Given the description of an element on the screen output the (x, y) to click on. 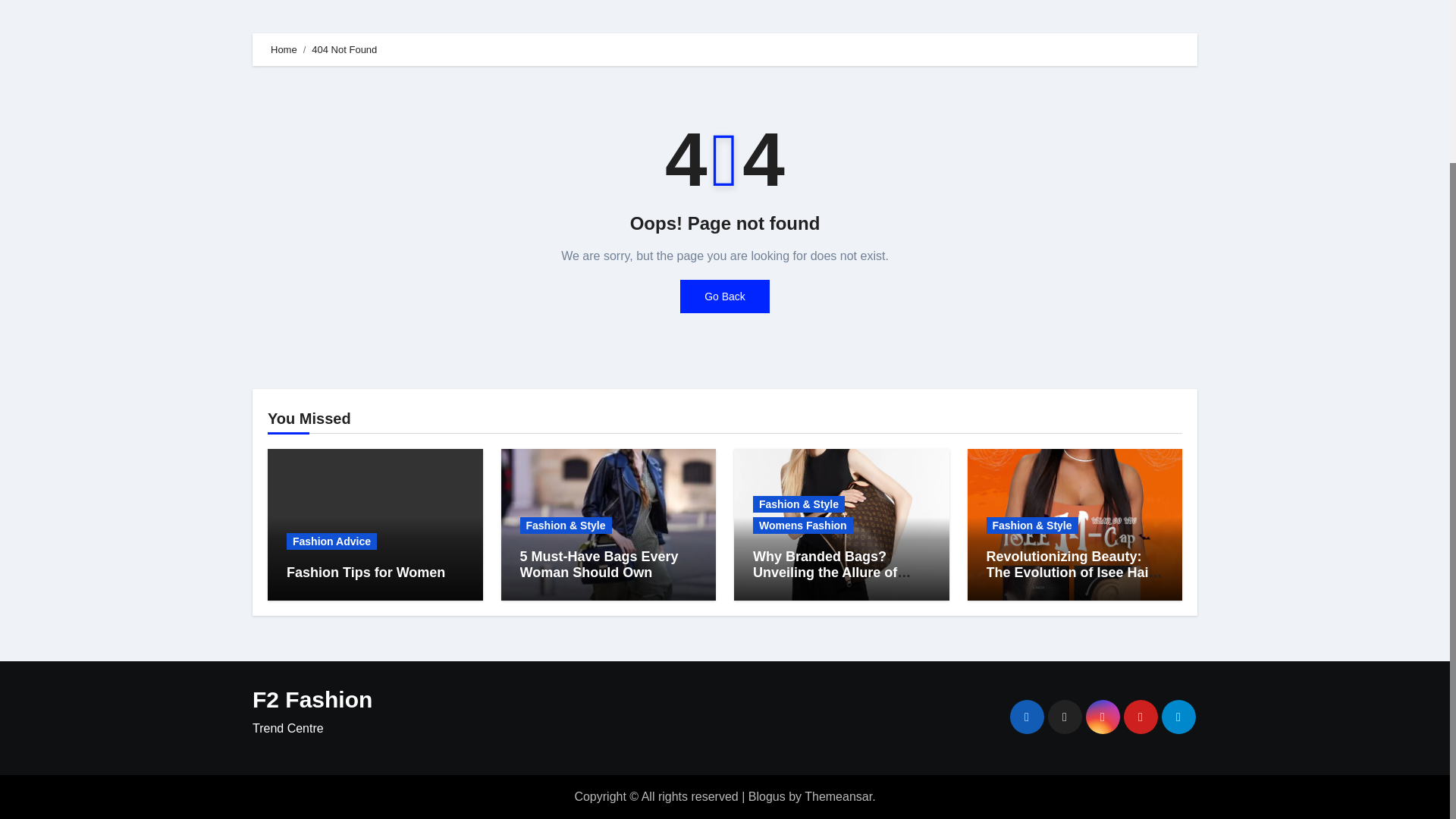
Home (283, 49)
Go Back (724, 296)
